Given the description of an element on the screen output the (x, y) to click on. 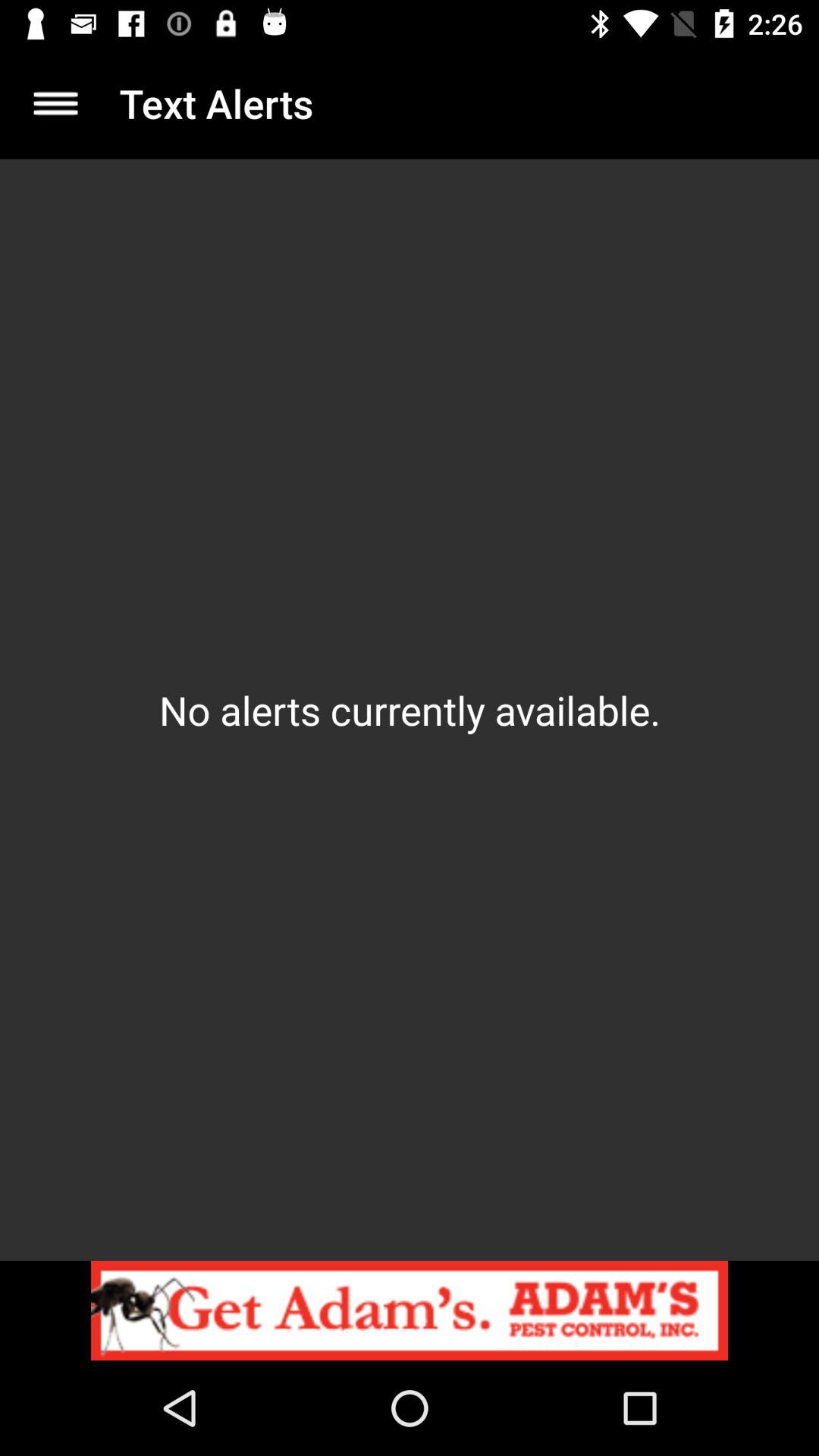
select item next to the text alerts item (55, 103)
